Given the description of an element on the screen output the (x, y) to click on. 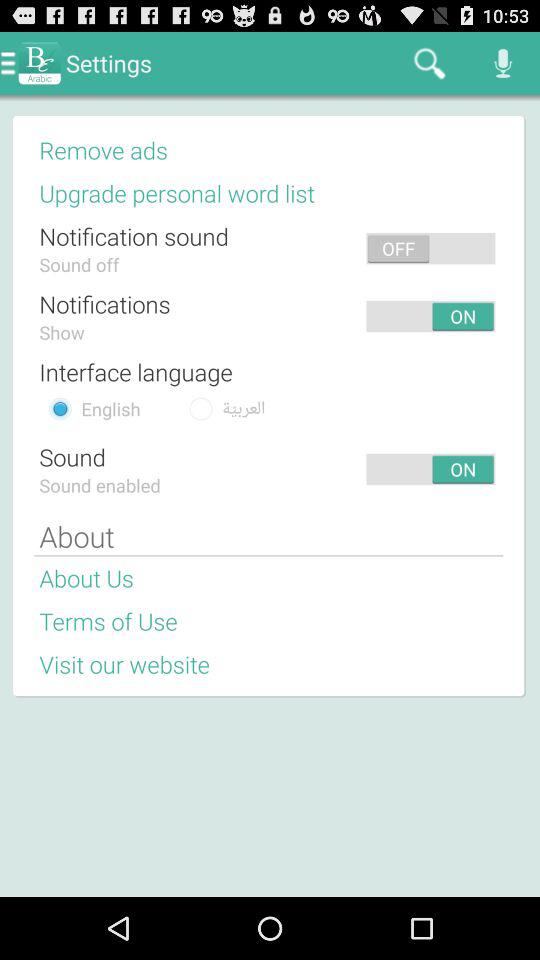
launch app next to the notifications app (266, 315)
